Given the description of an element on the screen output the (x, y) to click on. 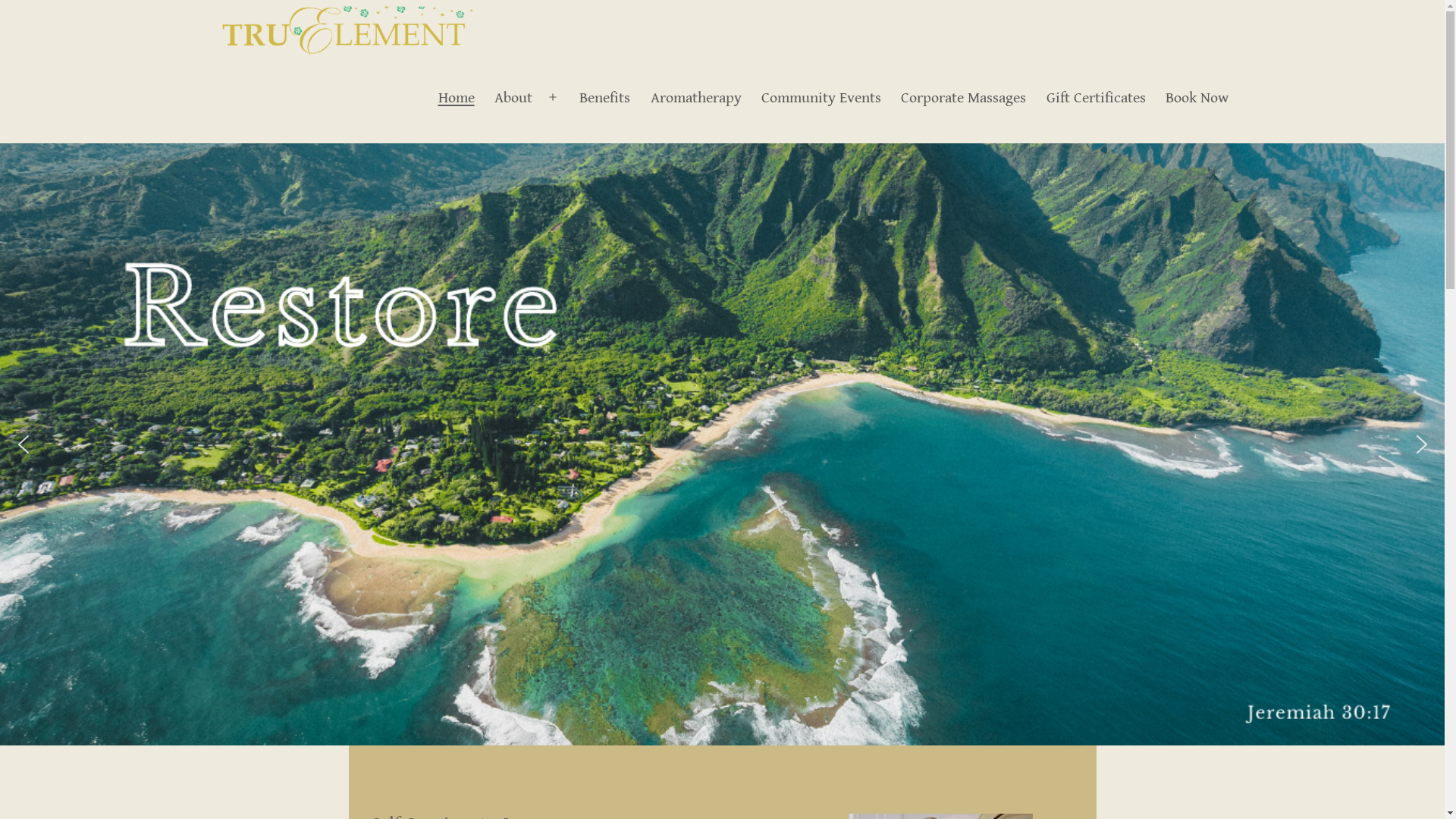
Community Events Element type: text (821, 97)
Home Element type: text (455, 97)
Open menu Element type: text (552, 97)
Book Now Element type: text (1196, 97)
Corporate Massages Element type: text (963, 97)
Gift Certificates Element type: text (1094, 97)
Aromatherapy Element type: text (695, 97)
Benefits Element type: text (604, 97)
About Element type: text (513, 97)
